Given the description of an element on the screen output the (x, y) to click on. 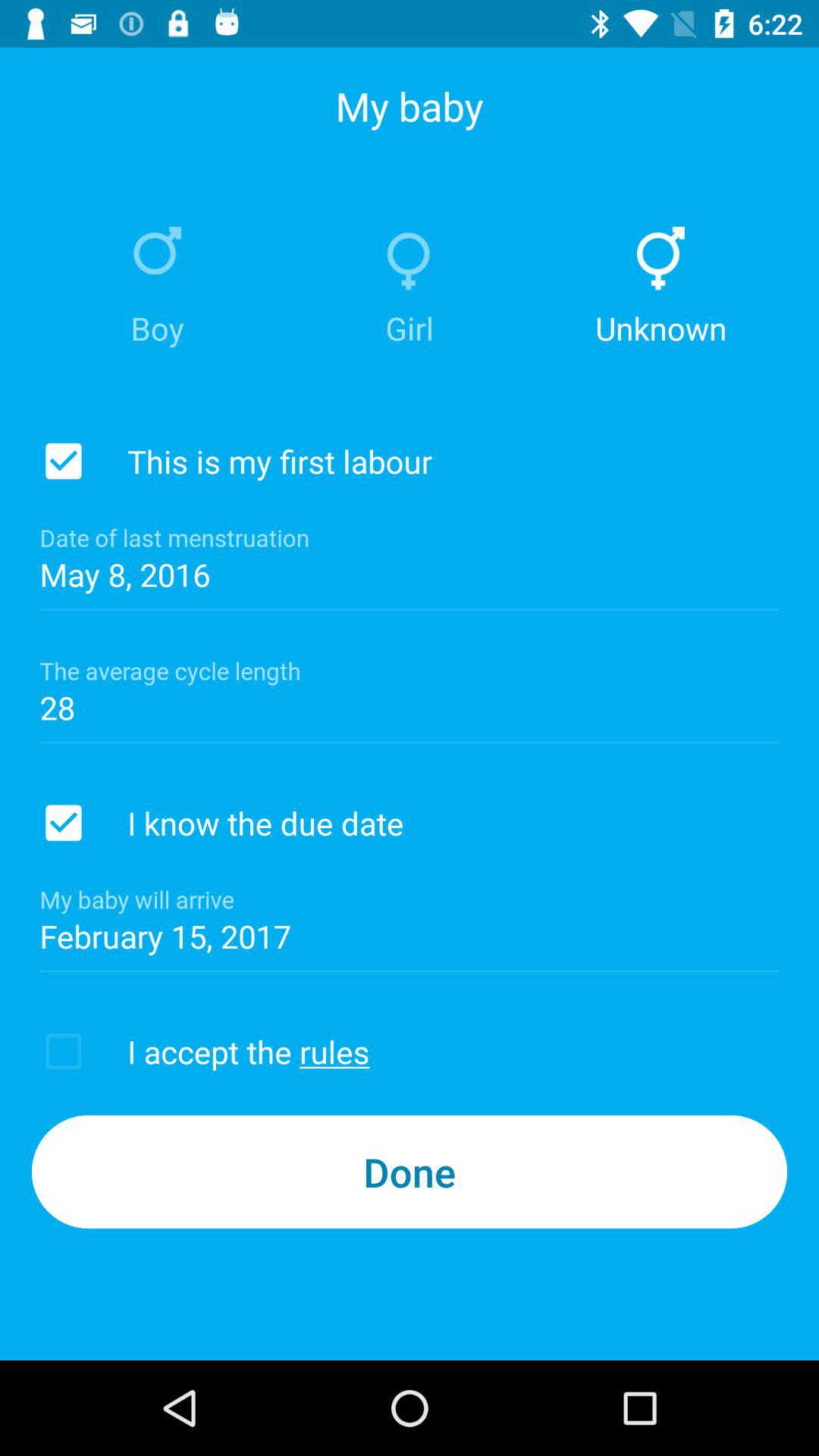
check this is my first labour (63, 461)
